Given the description of an element on the screen output the (x, y) to click on. 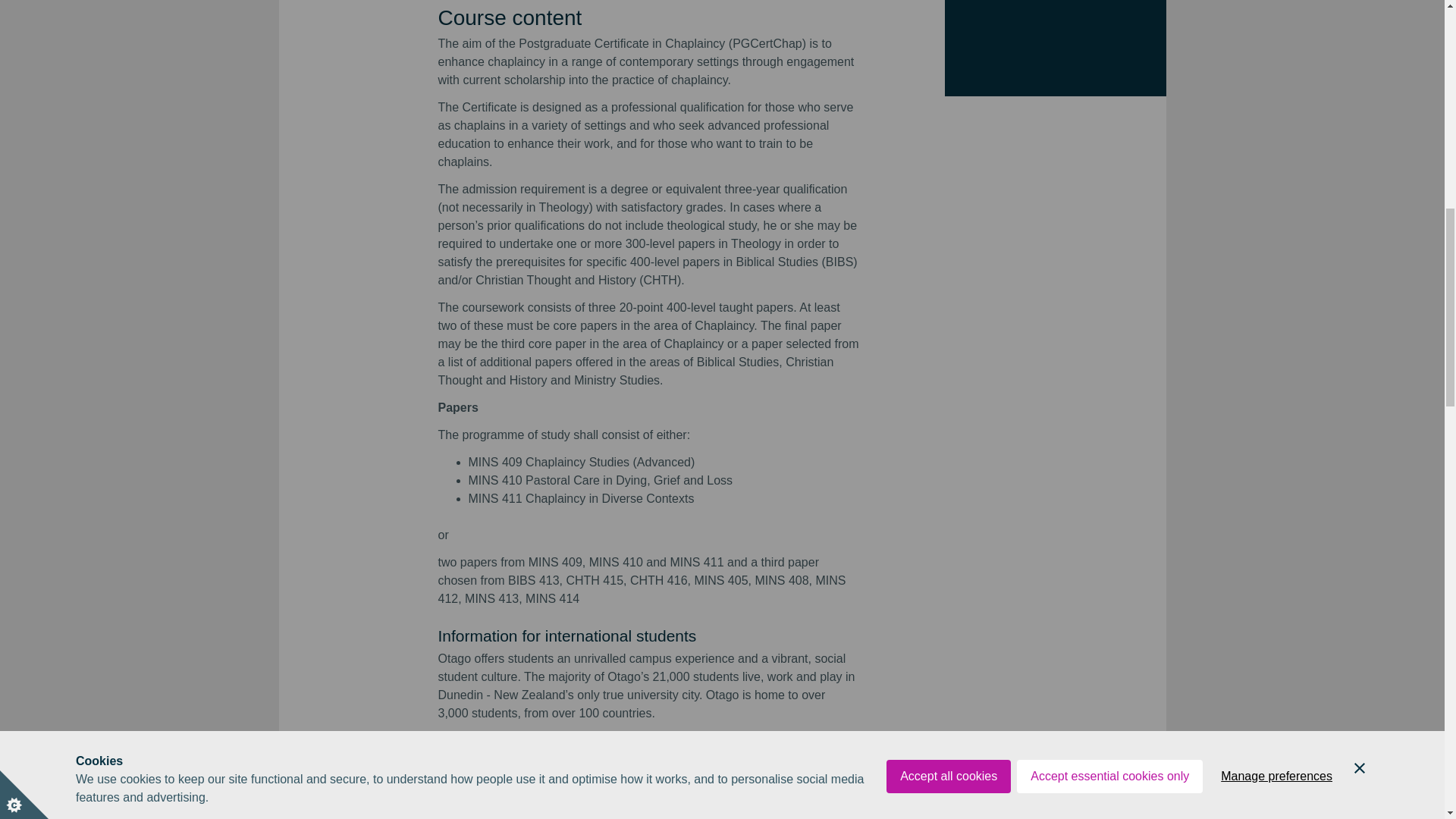
Accept all cookies (948, 17)
Accept essential cookies only (1109, 13)
Manage preferences (1275, 4)
